Given the description of an element on the screen output the (x, y) to click on. 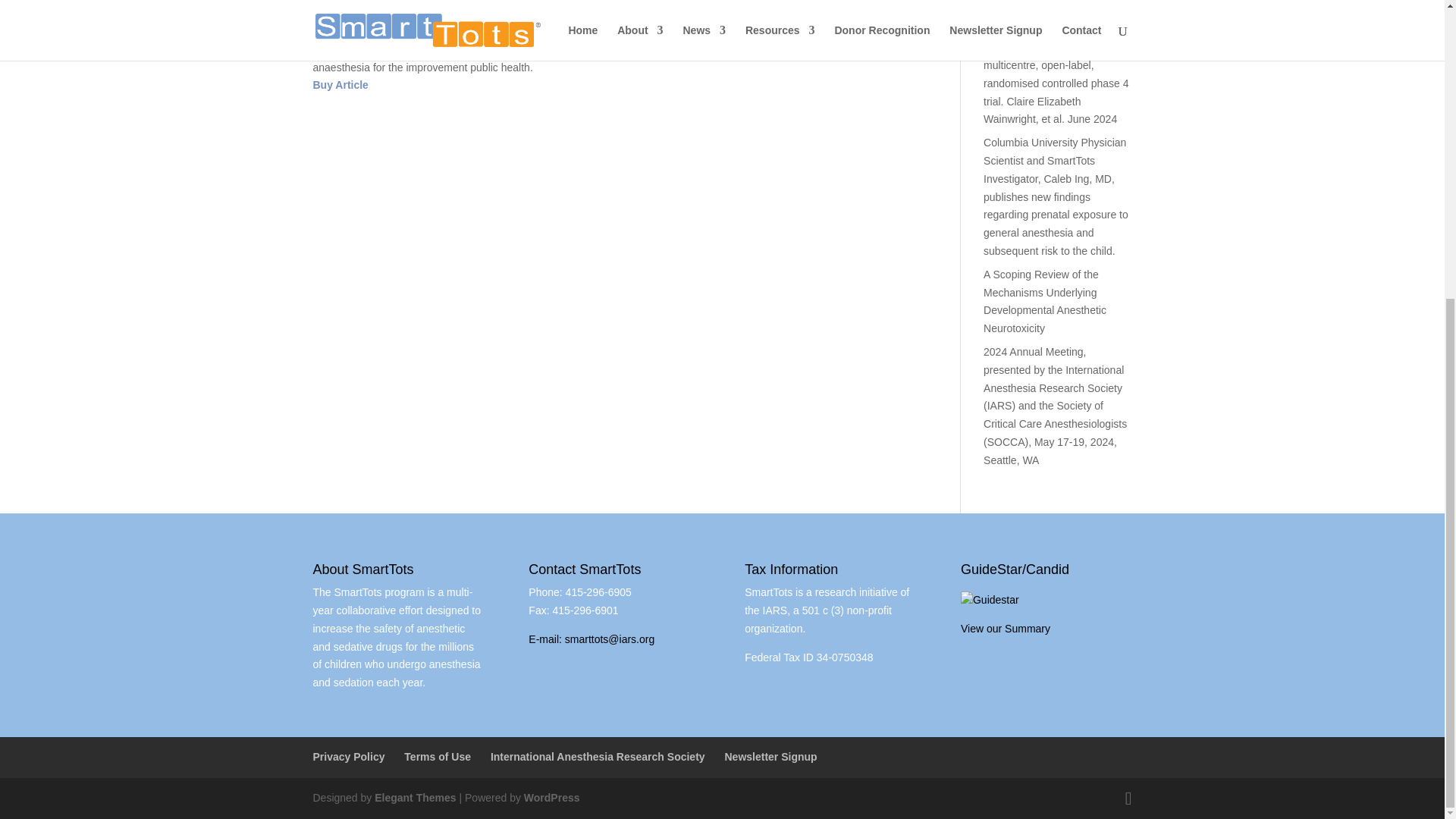
Premium WordPress Themes (414, 797)
